Given the description of an element on the screen output the (x, y) to click on. 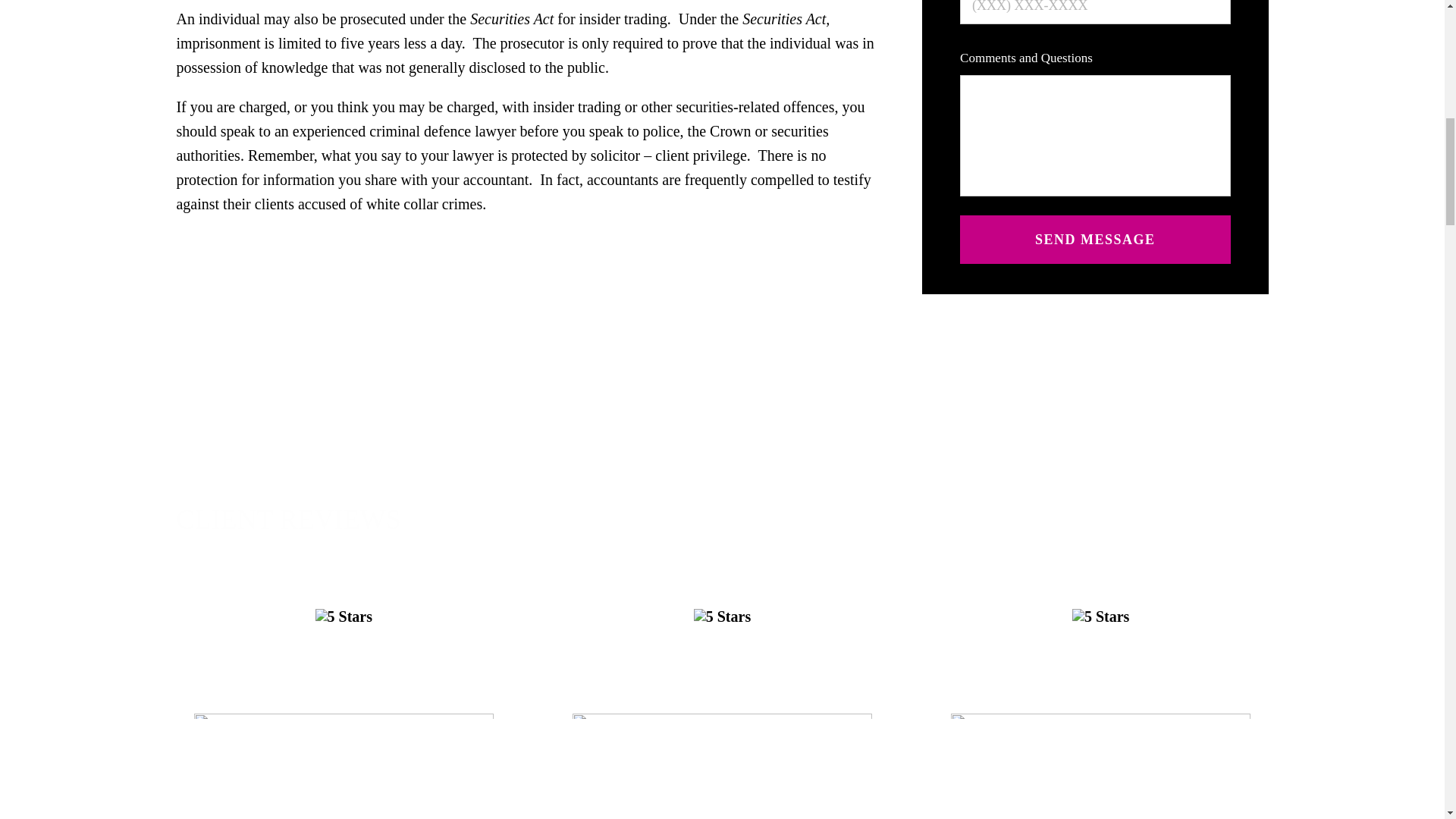
stars-bar (1100, 616)
blue-drawn-divider (343, 716)
stars-bar (343, 616)
Send Message (1094, 239)
stars-bar (722, 616)
blue-drawn-divider (1100, 716)
blue-drawn-divider (722, 716)
Send Message (1094, 239)
